Given the description of an element on the screen output the (x, y) to click on. 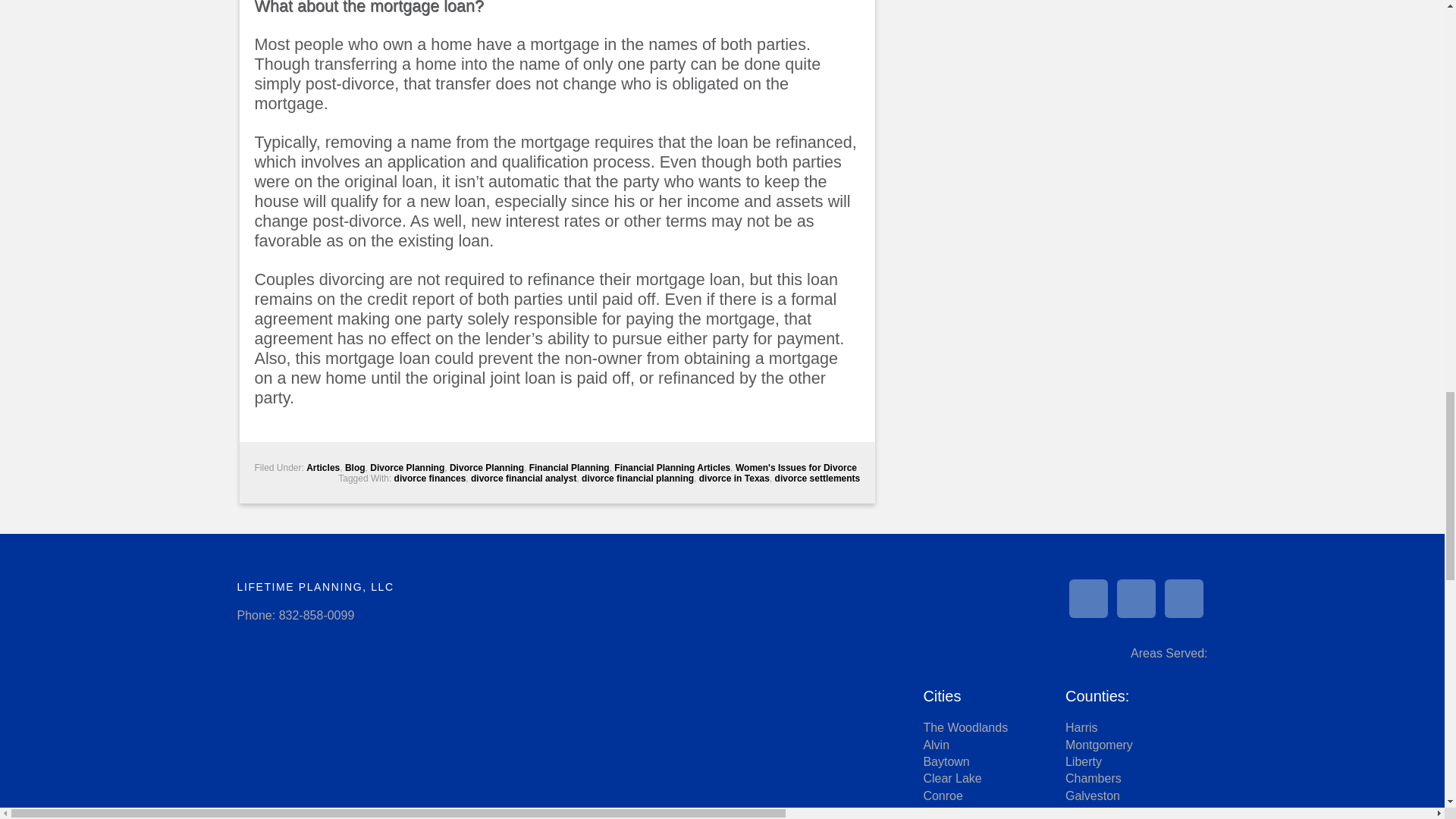
Financial Planning Articles (672, 467)
divorce financial planning (637, 478)
Divorce Planning (486, 467)
divorce finances (429, 478)
divorce in Texas (734, 478)
divorce financial analyst (523, 478)
Blog (355, 467)
Women's Issues for Divorce (796, 467)
Financial Planning (569, 467)
Divorce Planning (406, 467)
